Given the description of an element on the screen output the (x, y) to click on. 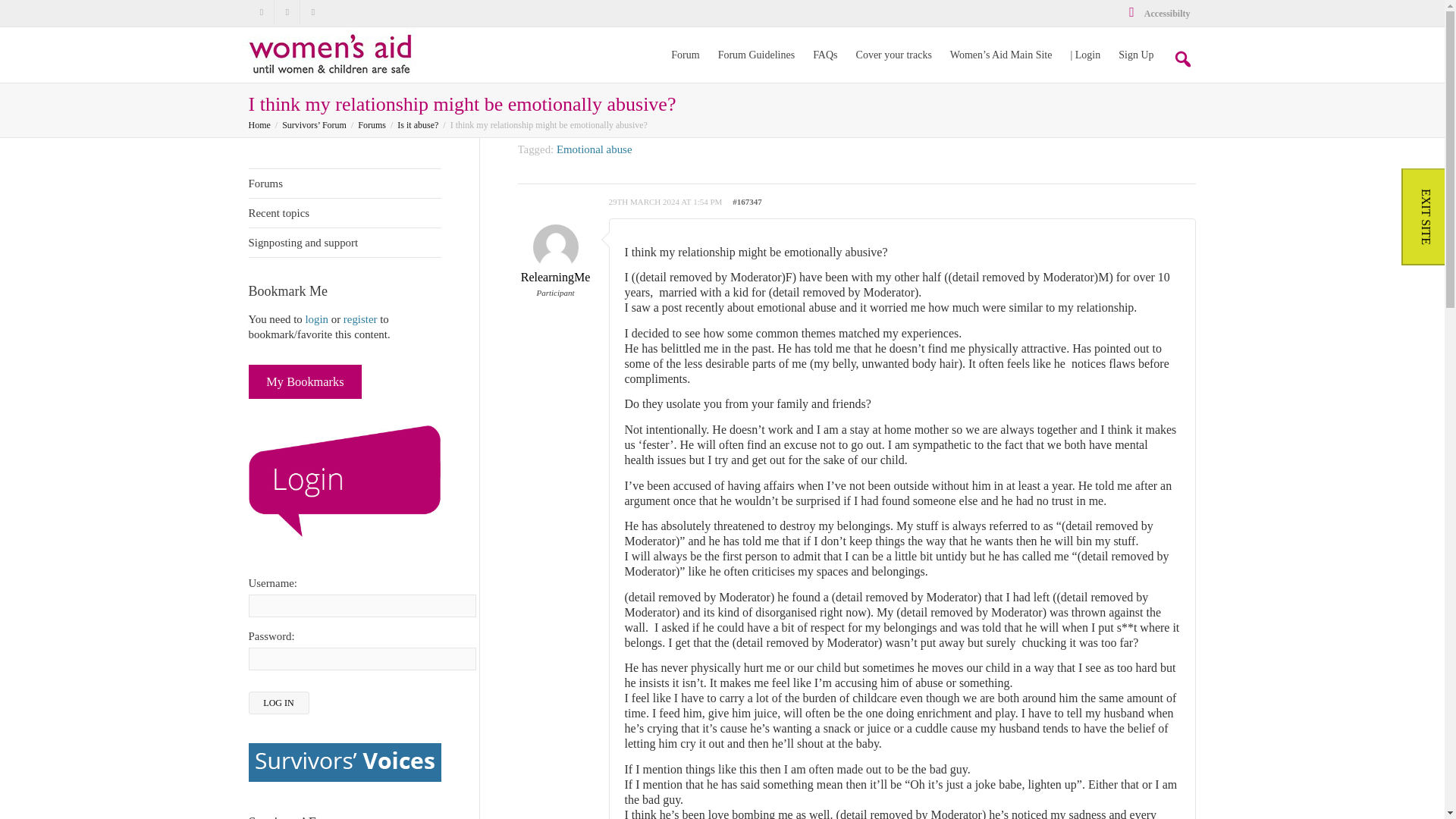
Home (259, 124)
Accessibilty (1157, 13)
Recent topics (344, 213)
LOG IN (278, 702)
login (316, 318)
Forum Guidelines (755, 54)
Accessibilty (1157, 13)
Is it abuse? (417, 124)
Women's Aid Main Site (1001, 54)
Survivors' Forum (259, 124)
register (360, 318)
Is it abuse? (417, 124)
Cover your tracks (893, 54)
Forum Guidelines (755, 54)
Forums (371, 124)
